Given the description of an element on the screen output the (x, y) to click on. 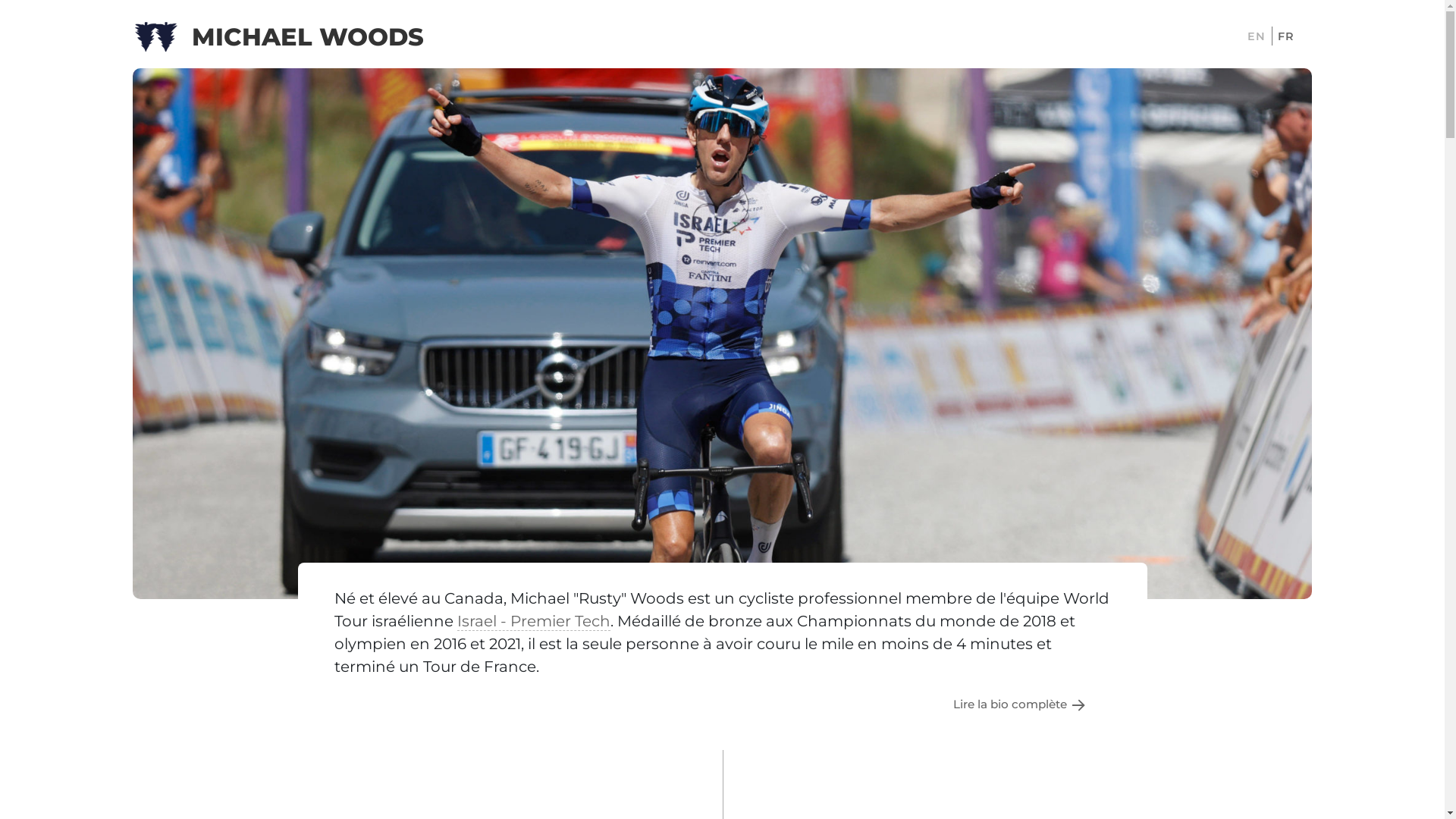
Israel - Premier Tech Element type: text (532, 620)
EN Element type: text (1256, 36)
FR Element type: text (1285, 36)
